Given the description of an element on the screen output the (x, y) to click on. 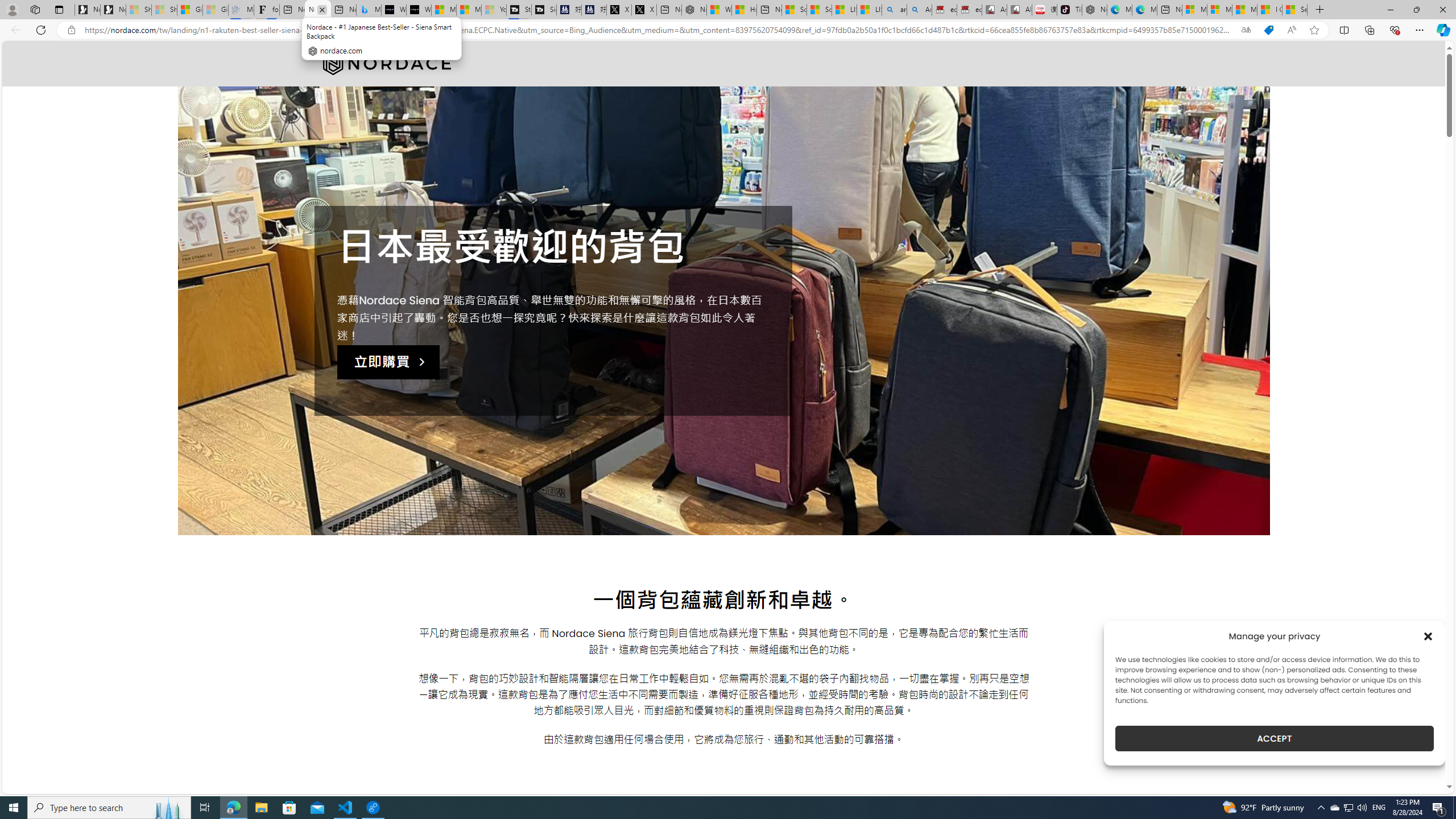
ACCEPT (1274, 738)
Show translate options (1245, 29)
